Given the description of an element on the screen output the (x, y) to click on. 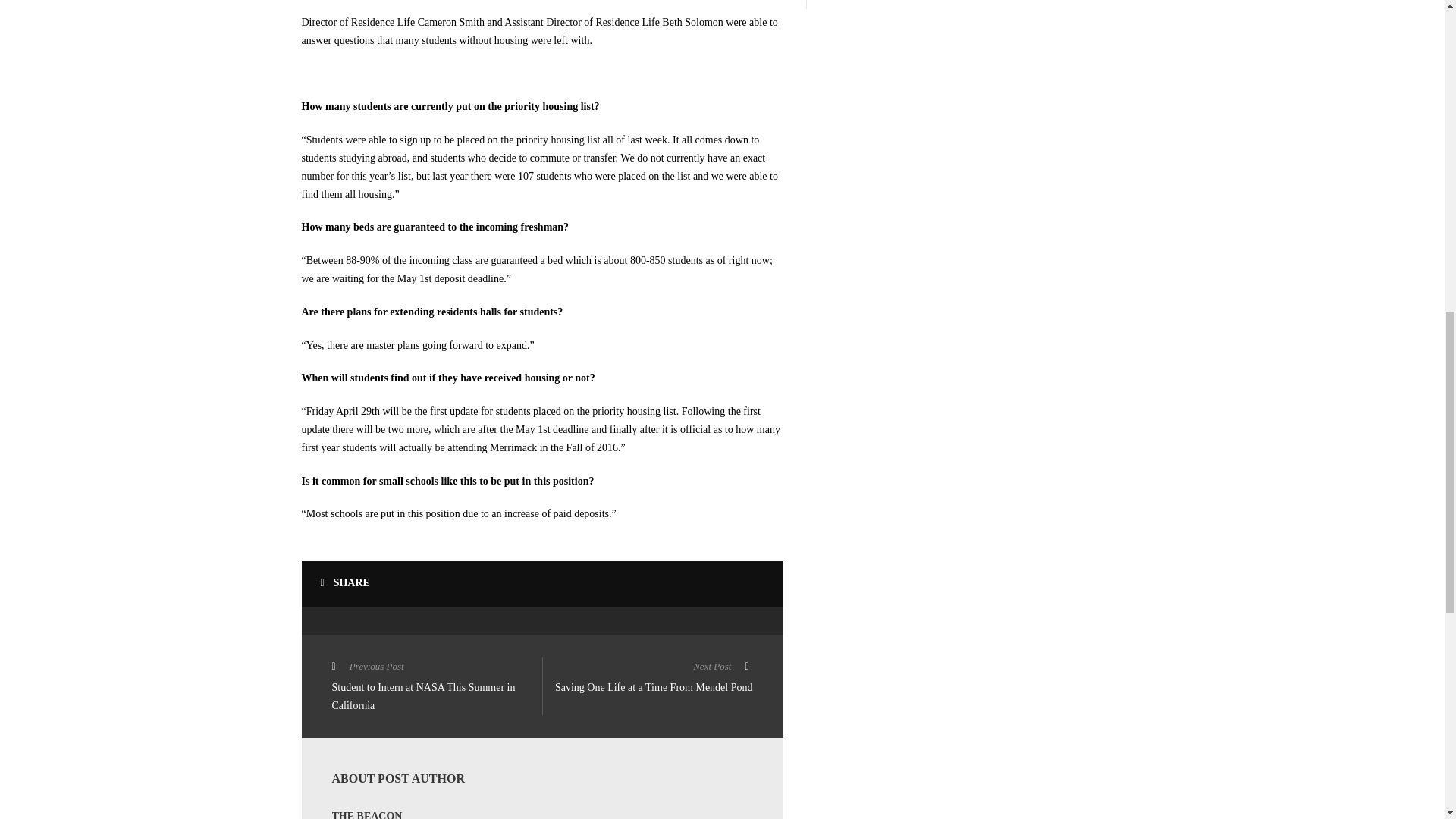
Posts by The Beacon (367, 814)
THE BEACON (646, 678)
